Given the description of an element on the screen output the (x, y) to click on. 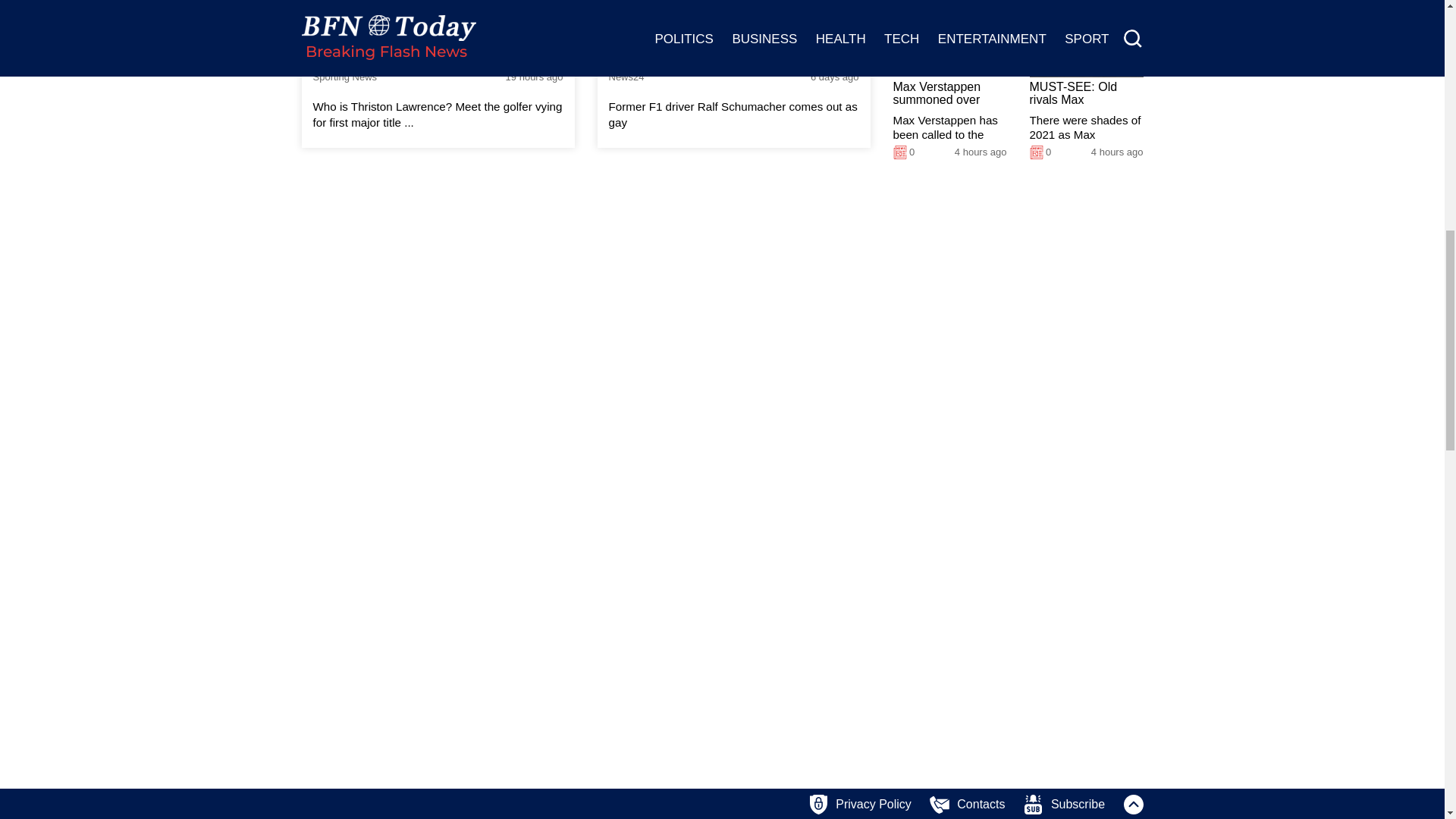
Former F1 driver Ralf Schumacher comes out as gay (733, 115)
